Given the description of an element on the screen output the (x, y) to click on. 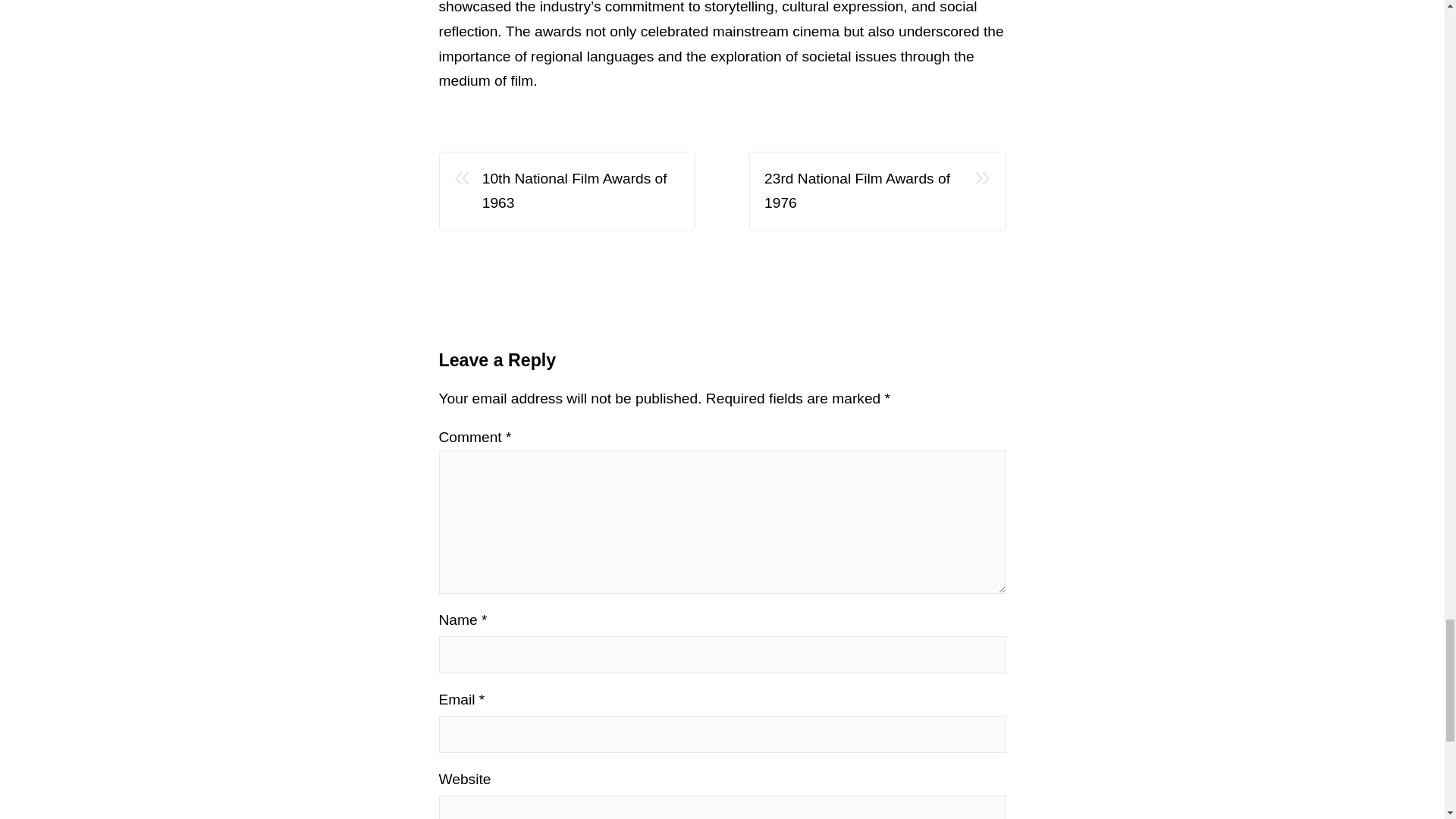
23rd National Film Awards of 1976 (863, 191)
10th National Film Awards of 1963 (580, 191)
